Given the description of an element on the screen output the (x, y) to click on. 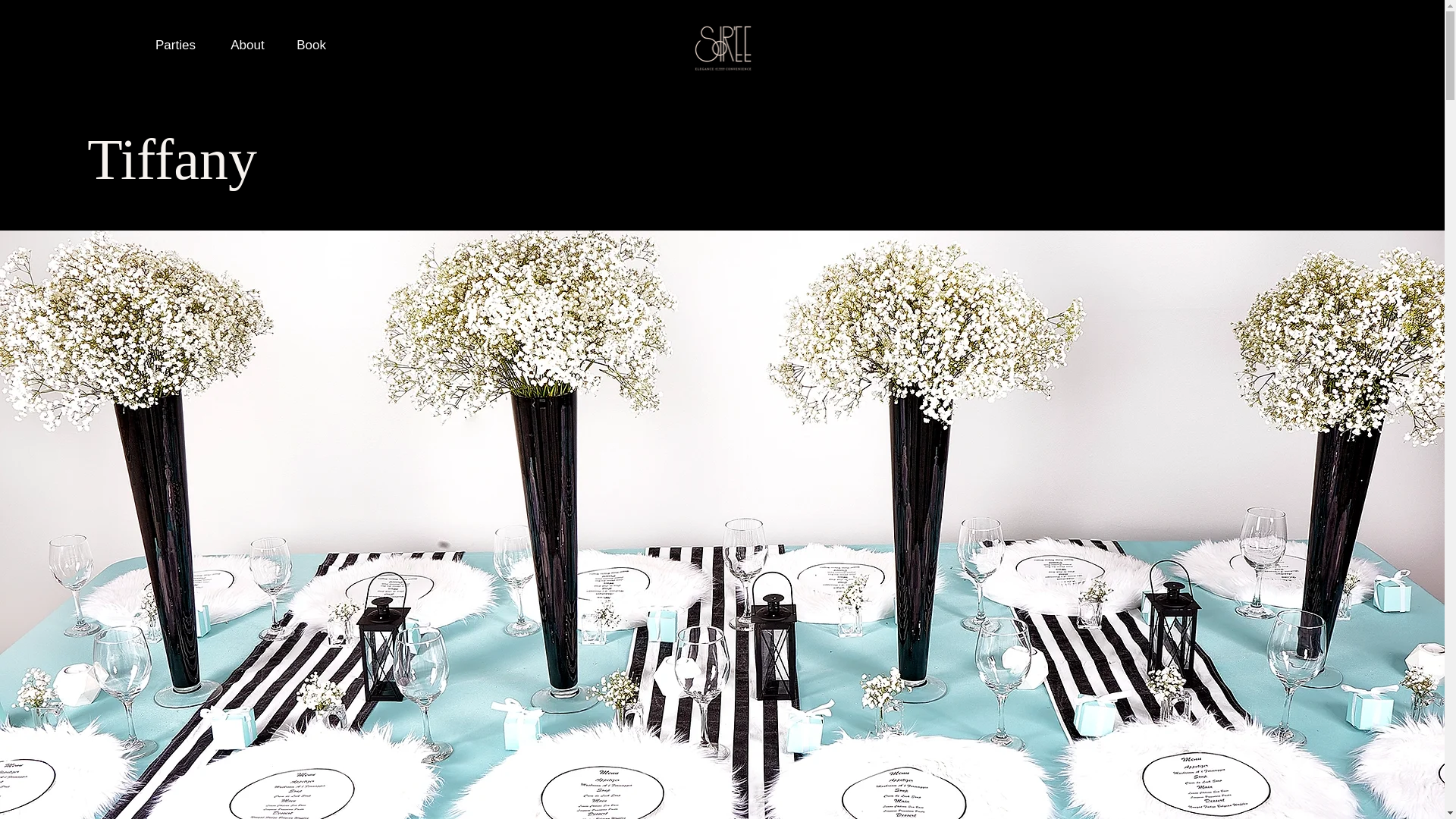
Book (311, 44)
About (246, 44)
Parties (175, 44)
